Given the description of an element on the screen output the (x, y) to click on. 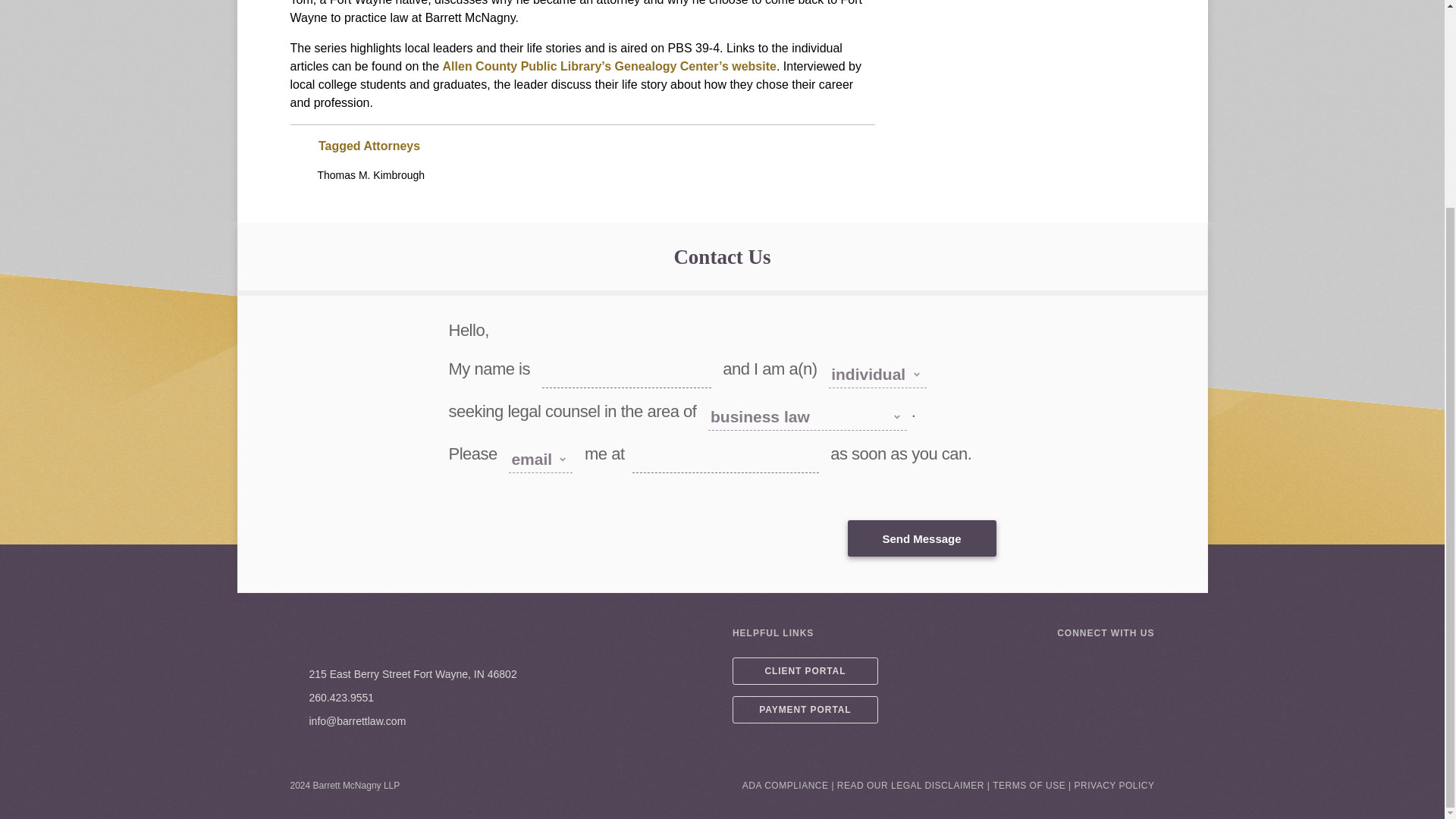
email (294, 720)
location pin (294, 674)
phone (294, 697)
tag (297, 146)
Barrett McNagny LLP (374, 638)
